Given the description of an element on the screen output the (x, y) to click on. 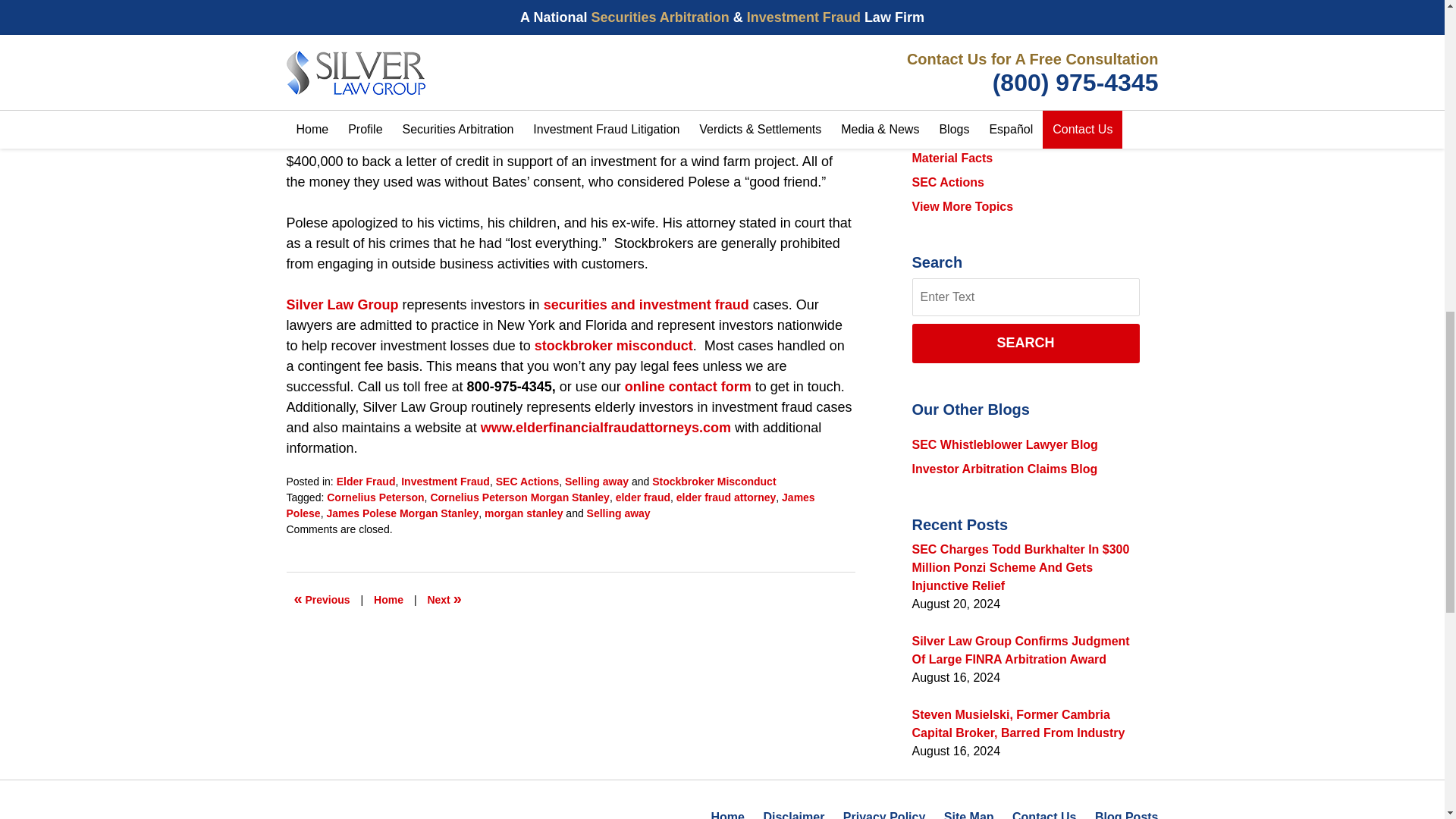
View all posts in SEC Actions (527, 481)
View all posts in Elder Fraud (366, 481)
View all posts in Stockbroker Misconduct (714, 481)
View all posts tagged with Cornelius Peterson Morgan Stanley (519, 497)
View all posts in Selling away (596, 481)
View all posts tagged with elder fraud attorney (726, 497)
View all posts tagged with morgan stanley (523, 512)
View all posts tagged with Selling away (618, 512)
View all posts tagged with James Polese Morgan Stanley (402, 512)
